Given the description of an element on the screen output the (x, y) to click on. 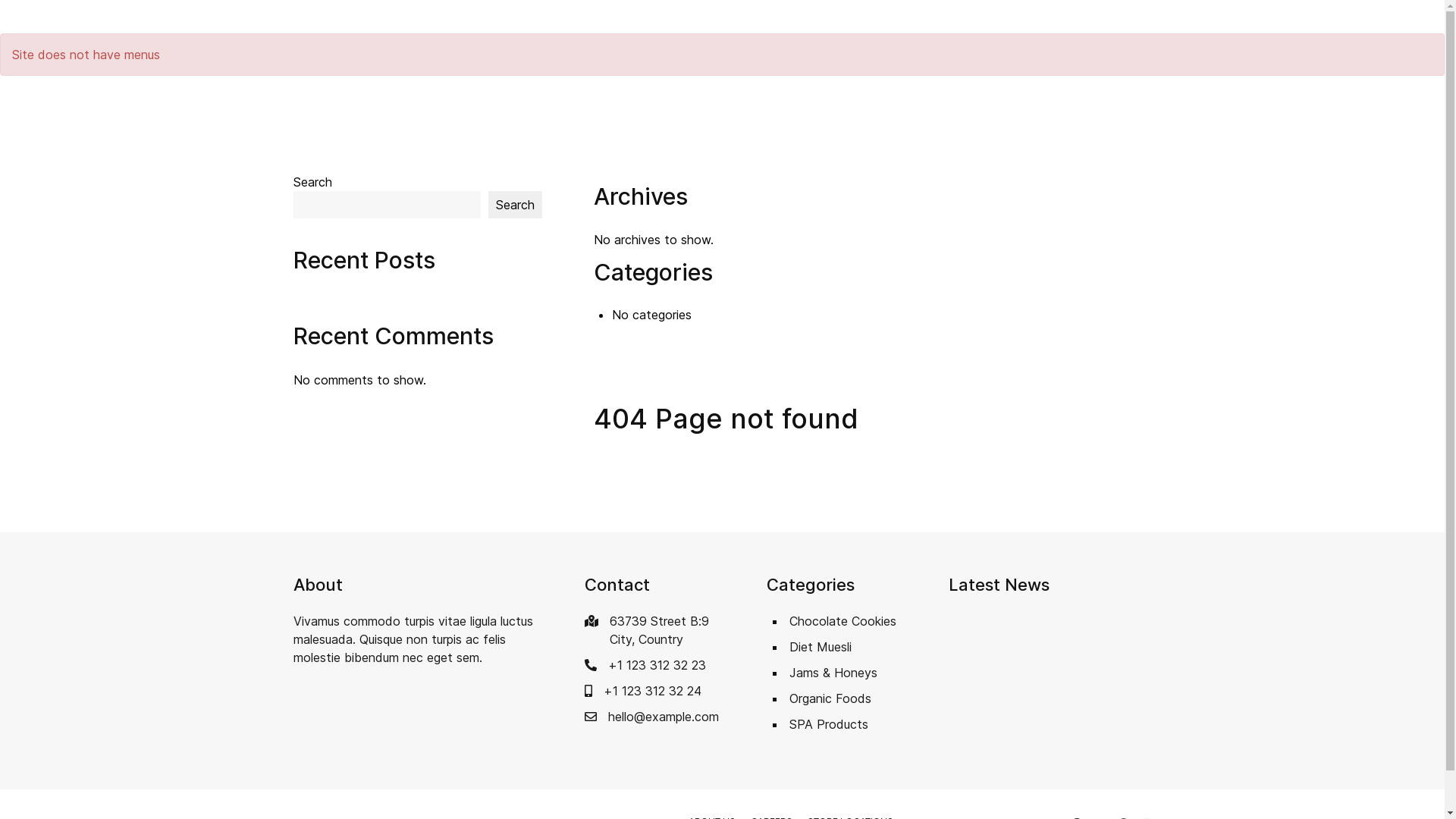
Instagram Element type: hover (321, 16)
Messenger Element type: hover (298, 16)
SPA Products Element type: text (827, 723)
Jams & Honeys Element type: text (832, 672)
Telegram Element type: hover (344, 16)
Diet Muesli Element type: text (819, 646)
Chocolate Cookies Element type: text (841, 620)
Organic Foods Element type: text (829, 698)
Twitter Element type: hover (368, 16)
Search Element type: text (515, 204)
